Given the description of an element on the screen output the (x, y) to click on. 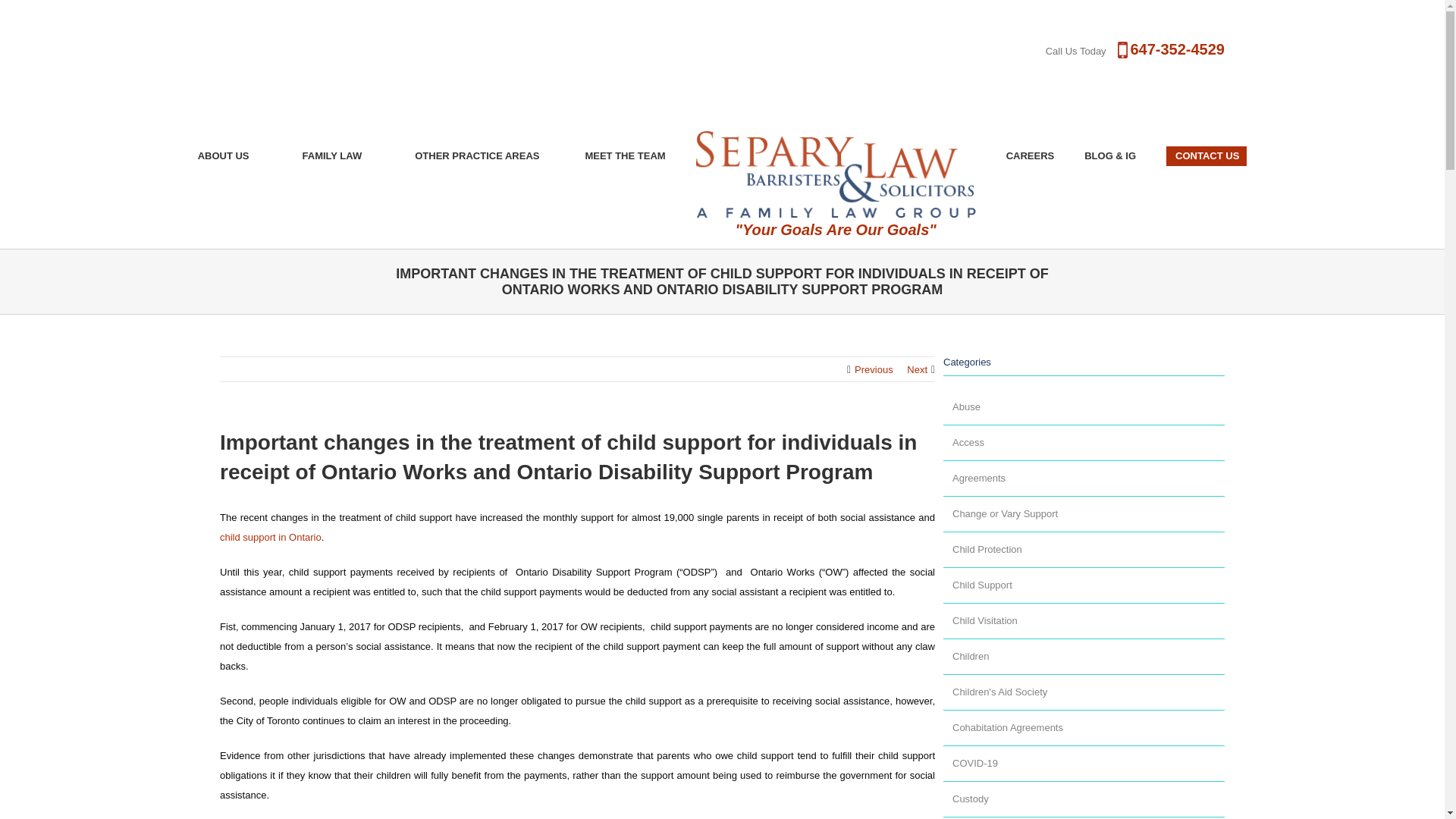
OTHER PRACTICE AREAS (476, 156)
CAREERS (1030, 156)
647-352-4529 (1176, 48)
MEET THE TEAM (625, 156)
ABOUT US (223, 156)
CONTACT US (1206, 156)
FAMILY LAW (332, 156)
